Given the description of an element on the screen output the (x, y) to click on. 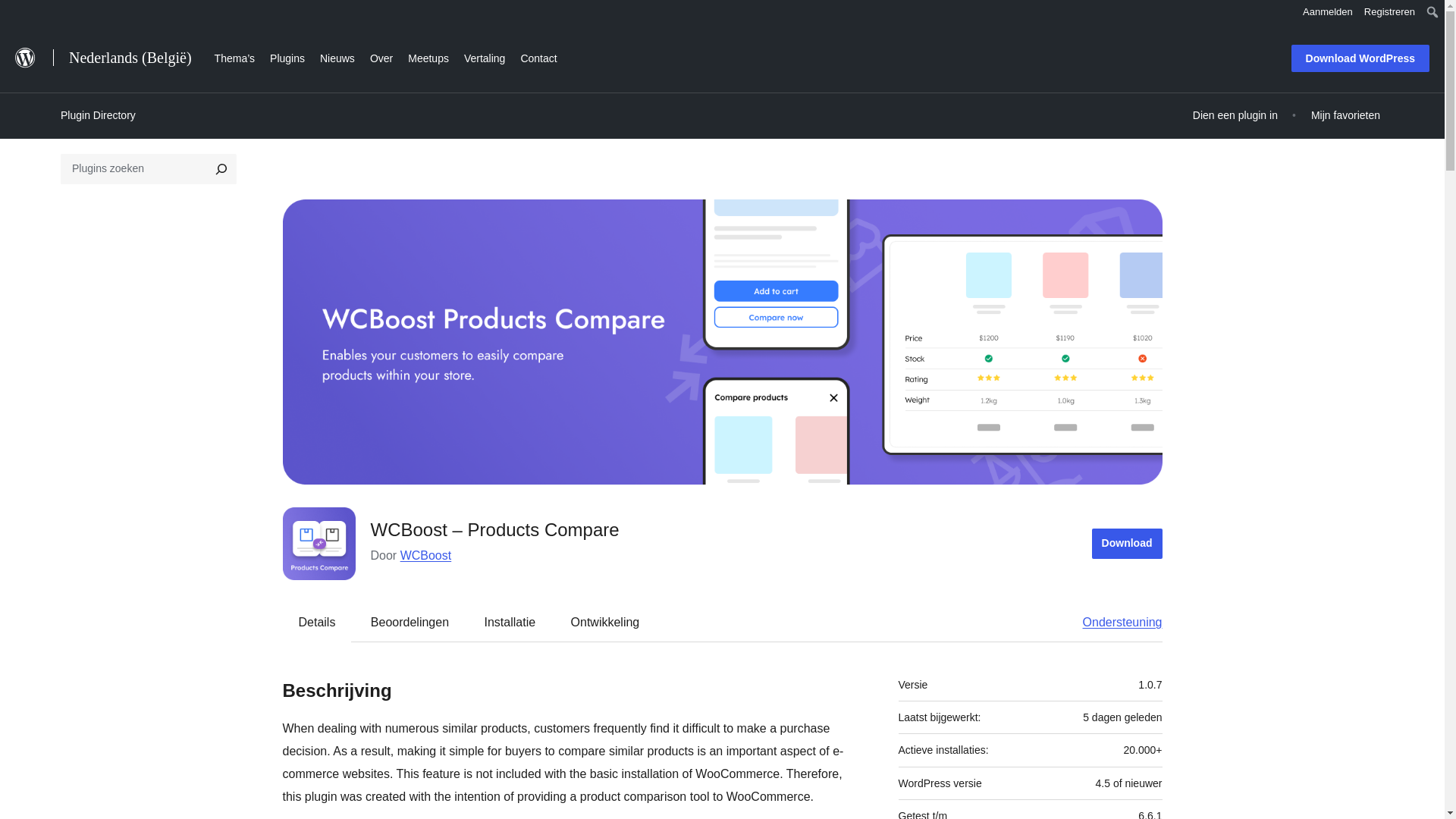
Ontwikkeling (605, 622)
Download (1126, 543)
Details (316, 622)
Download WordPress (1360, 58)
WCBoost (425, 554)
Aanmelden (1327, 12)
Registreren (1389, 12)
Beoordelingen (409, 622)
Plugin Directory (97, 115)
Zoeken (17, 13)
Installatie (509, 622)
Mijn favorieten (1345, 115)
Dien een plugin in (1235, 115)
Ondersteuning (1114, 622)
